Given the description of an element on the screen output the (x, y) to click on. 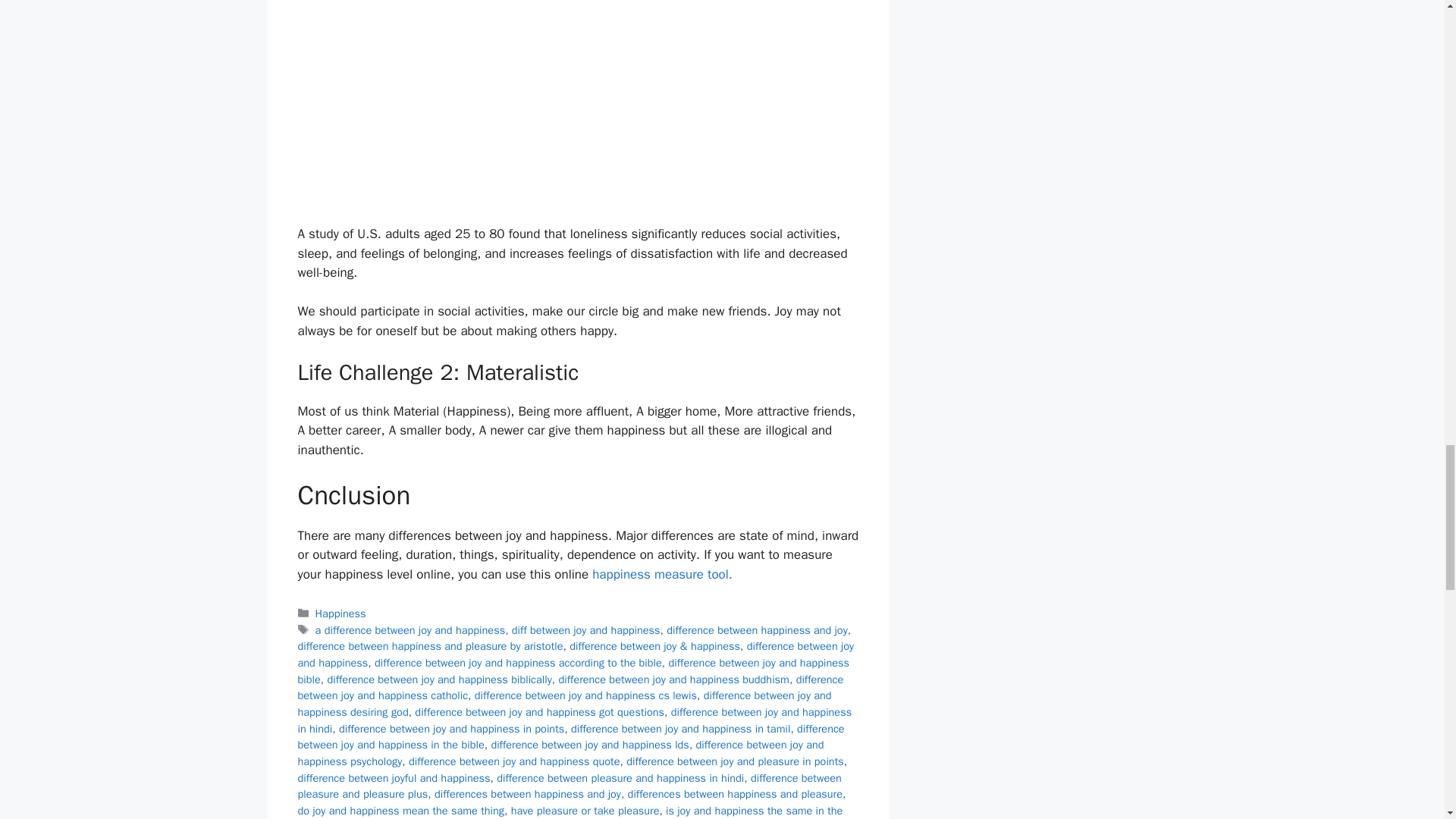
difference between joy and happiness (575, 654)
difference between joy and happiness got questions (538, 712)
difference between joy and happiness lds (589, 744)
difference between joy and happiness biblically (438, 679)
difference between joy and happiness buddhism (673, 679)
Happiness (340, 612)
a difference between joy and happiness (410, 630)
diff between joy and happiness (586, 630)
difference between joy and happiness catholic (570, 687)
difference between joy and happiness in points (451, 728)
difference between joy and happiness according to the bible (518, 662)
happiness measure tool. (662, 574)
difference between joy and happiness psychology (560, 752)
difference between happiness and pleasure by aristotle (429, 645)
difference between joy and happiness cs lewis (585, 694)
